Given the description of an element on the screen output the (x, y) to click on. 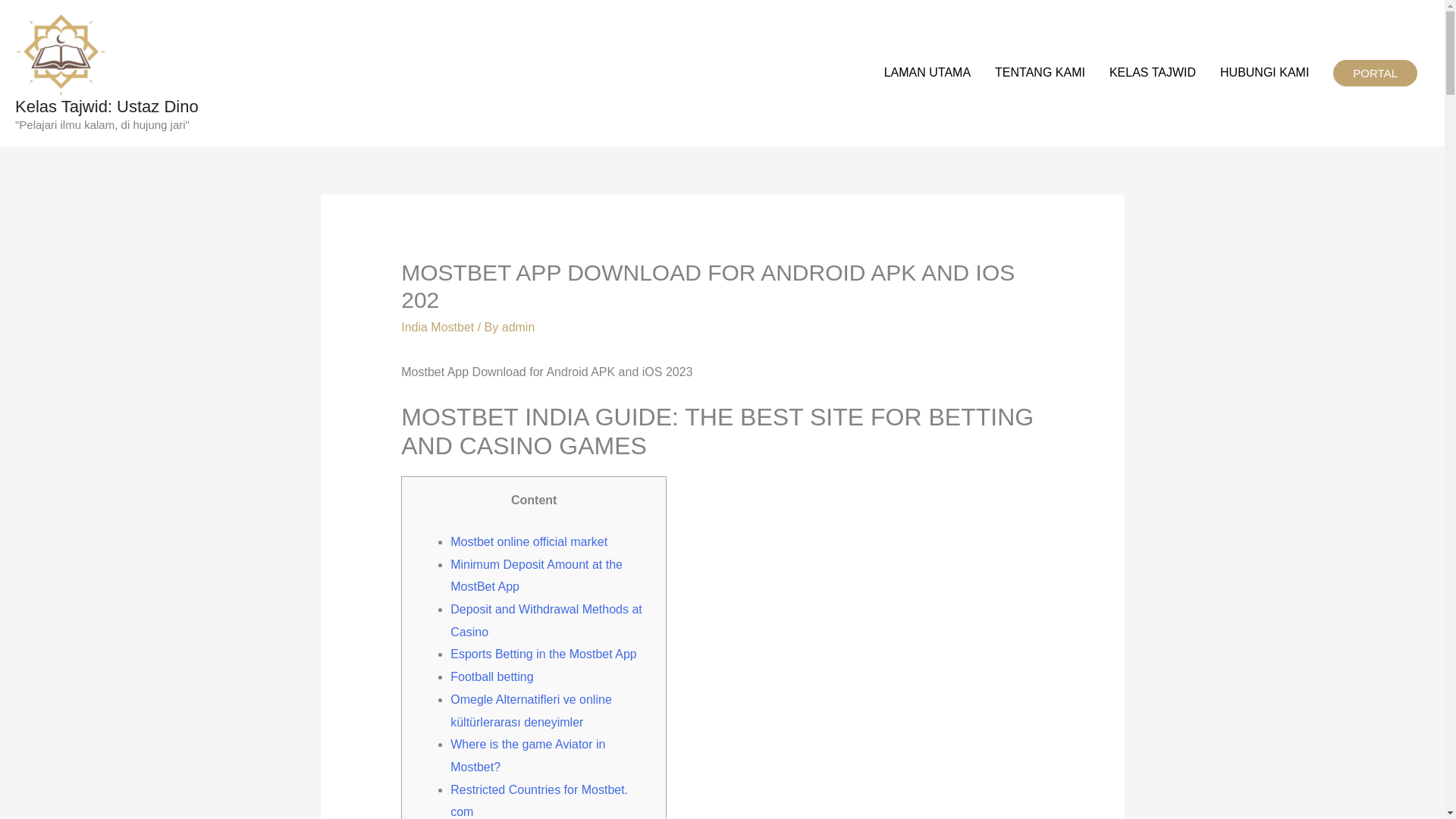
Kelas Tajwid: Ustaz Dino (106, 106)
KELAS TAJWID (1152, 72)
TENTANG KAMI (1039, 72)
Minimum Deposit Amount at the MostBet App (536, 575)
Esports Betting in the Mostbet App (542, 653)
admin (518, 327)
Restricted Countries for Mostbet. com (538, 800)
View all posts by admin (518, 327)
Where is the game Aviator in Mostbet? (527, 755)
LAMAN UTAMA (927, 72)
Football betting (490, 676)
Mostbet online official market (528, 541)
HUBUNGI KAMI (1264, 72)
PORTAL (1374, 72)
India Mostbet (437, 327)
